Given the description of an element on the screen output the (x, y) to click on. 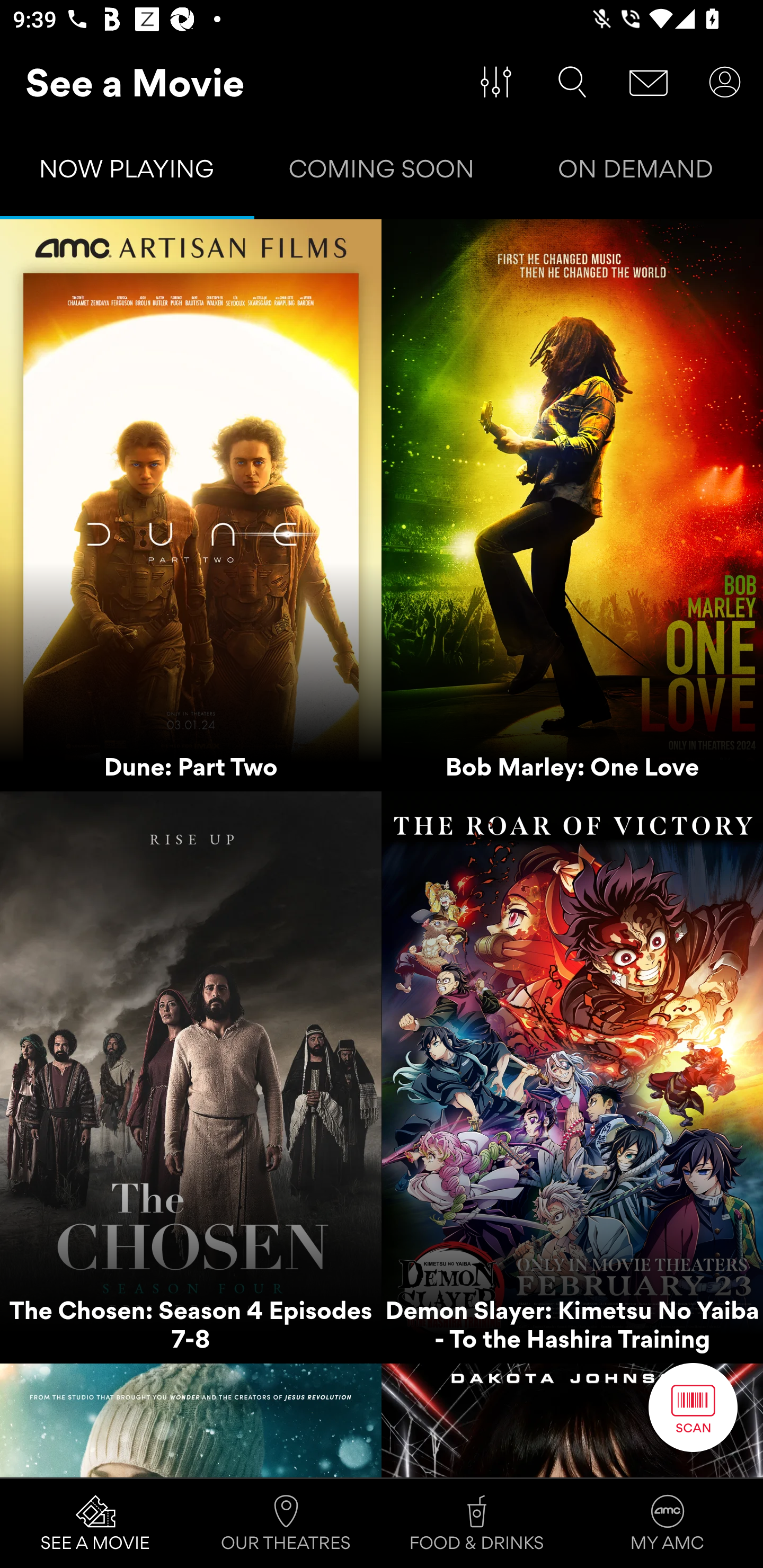
Filter Movies (495, 82)
Search (572, 82)
Message Center (648, 82)
User Account (724, 82)
NOW PLAYING
Tab 1 of 3 (127, 173)
COMING SOON
Tab 2 of 3 (381, 173)
ON DEMAND
Tab 3 of 3 (635, 173)
Dune: Part Two (190, 505)
Bob Marley: One Love (572, 505)
The Chosen: Season 4 Episodes 7-8 (190, 1077)
Scan Button (692, 1406)
SEE A MOVIE
Tab 1 of 4 (95, 1523)
OUR THEATRES
Tab 2 of 4 (285, 1523)
FOOD & DRINKS
Tab 3 of 4 (476, 1523)
MY AMC
Tab 4 of 4 (667, 1523)
